Given the description of an element on the screen output the (x, y) to click on. 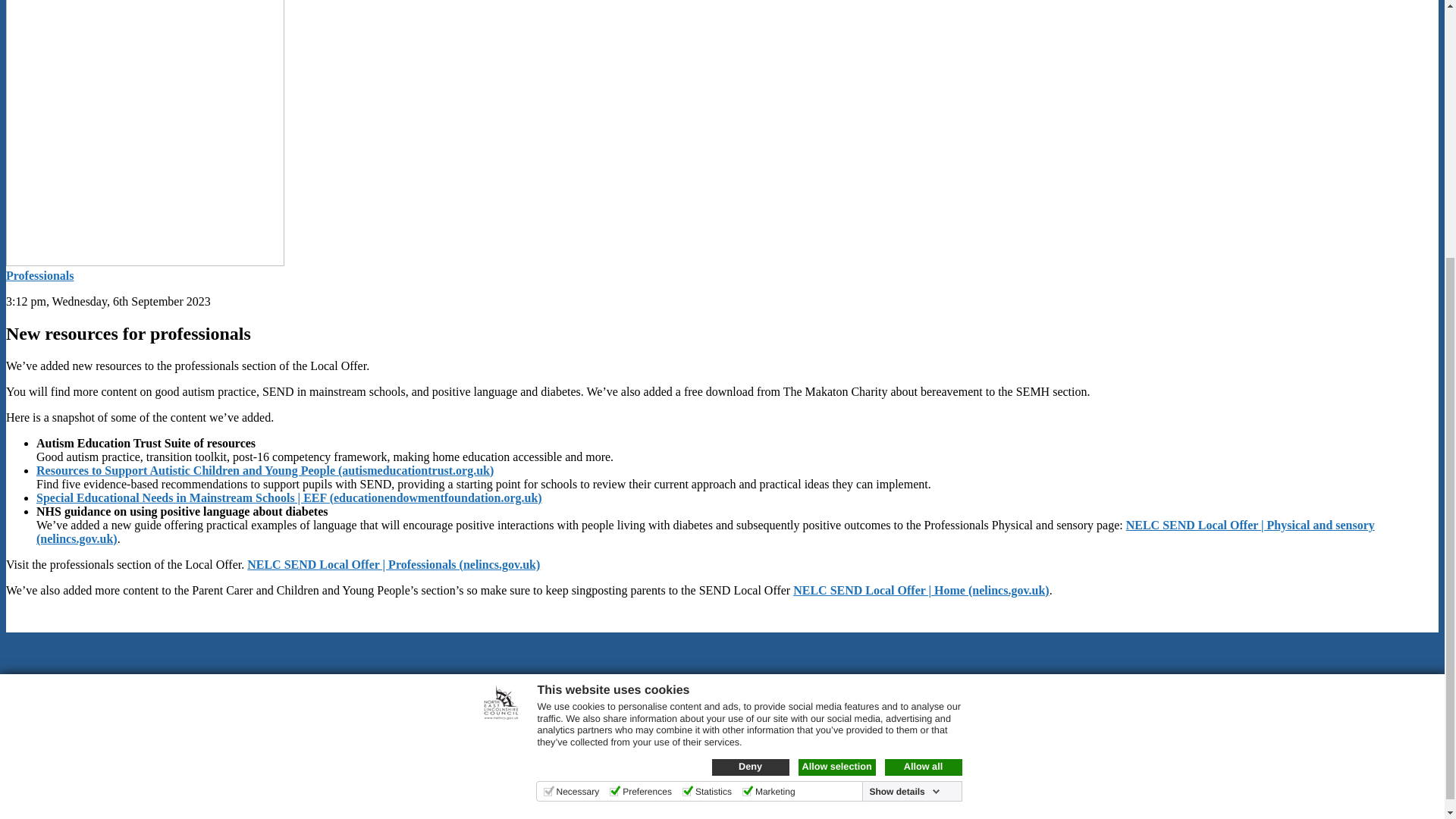
Show details (904, 417)
Allow selection (836, 393)
Allow all (921, 393)
Deny (750, 393)
